Given the description of an element on the screen output the (x, y) to click on. 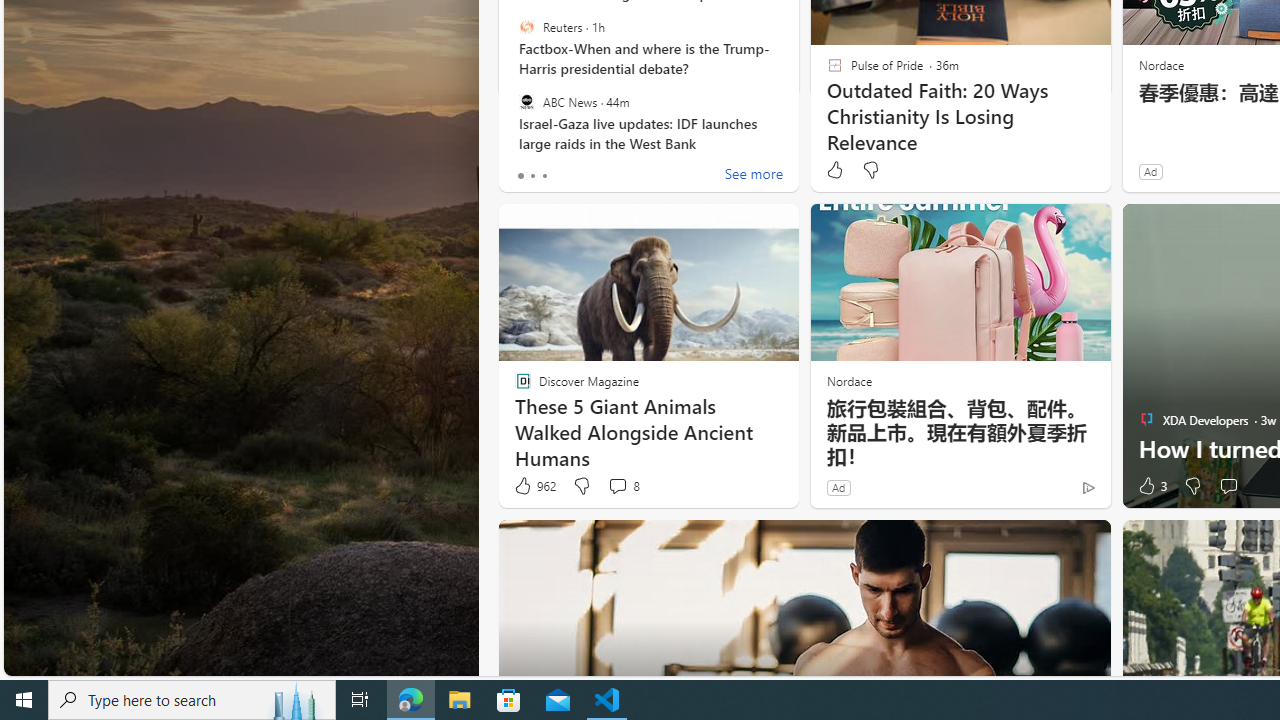
View comments 8 Comment (623, 485)
Start the conversation (1228, 485)
Reuters (526, 27)
Ad Choice (1087, 487)
962 Like (534, 485)
